Given the description of an element on the screen output the (x, y) to click on. 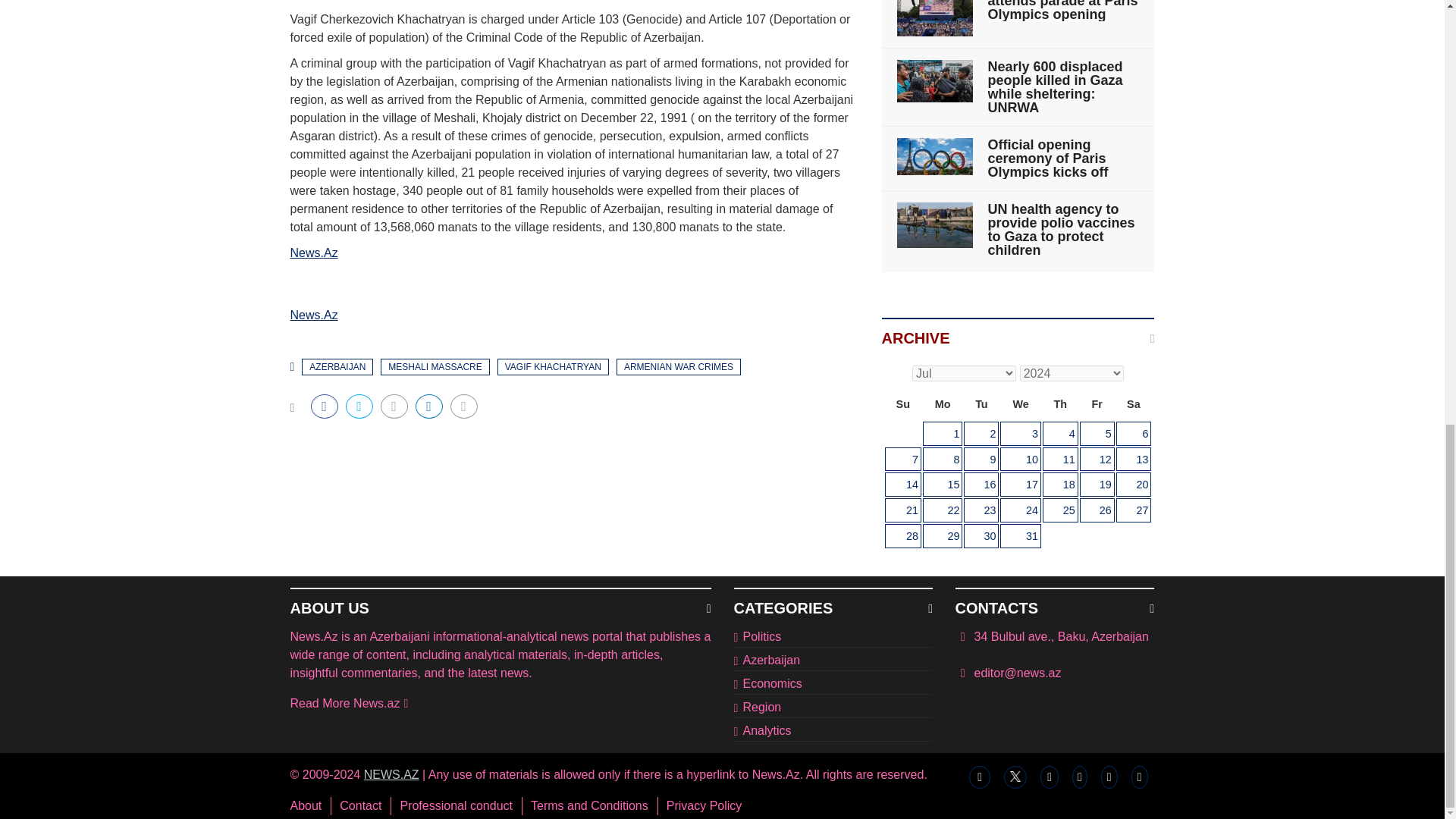
VAGIF KHACHATRYAN (552, 366)
Share news on Facebook (324, 405)
News.Az (313, 252)
News.Az (313, 314)
ARMENIAN WAR CRIMES (678, 366)
Share news on Twitter (359, 405)
MESHALI MASSACRE (434, 366)
AZERBAIJAN (336, 366)
